Given the description of an element on the screen output the (x, y) to click on. 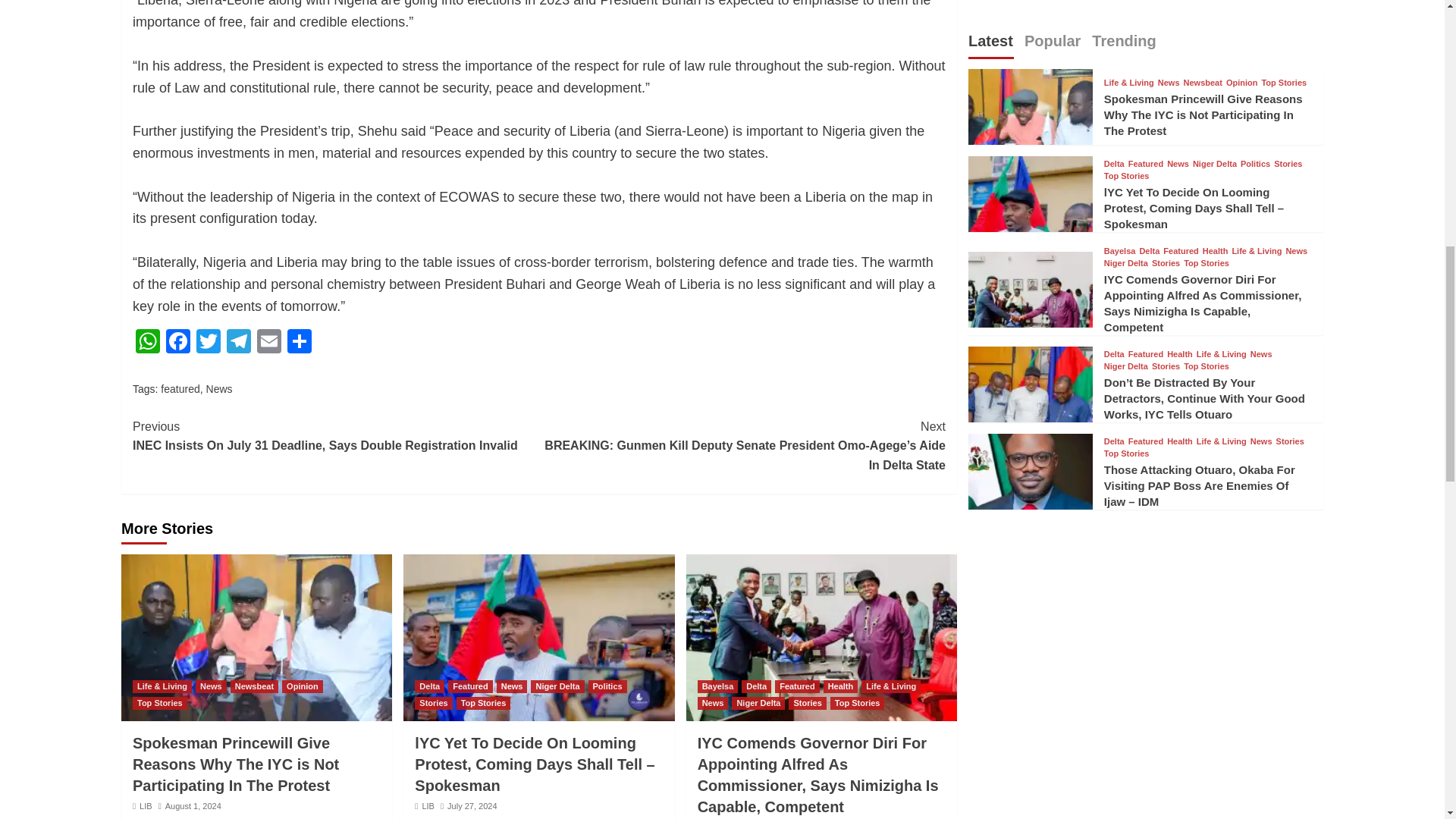
Email (268, 343)
Facebook (178, 343)
Twitter (208, 343)
WhatsApp (147, 343)
Telegram (238, 343)
